Given the description of an element on the screen output the (x, y) to click on. 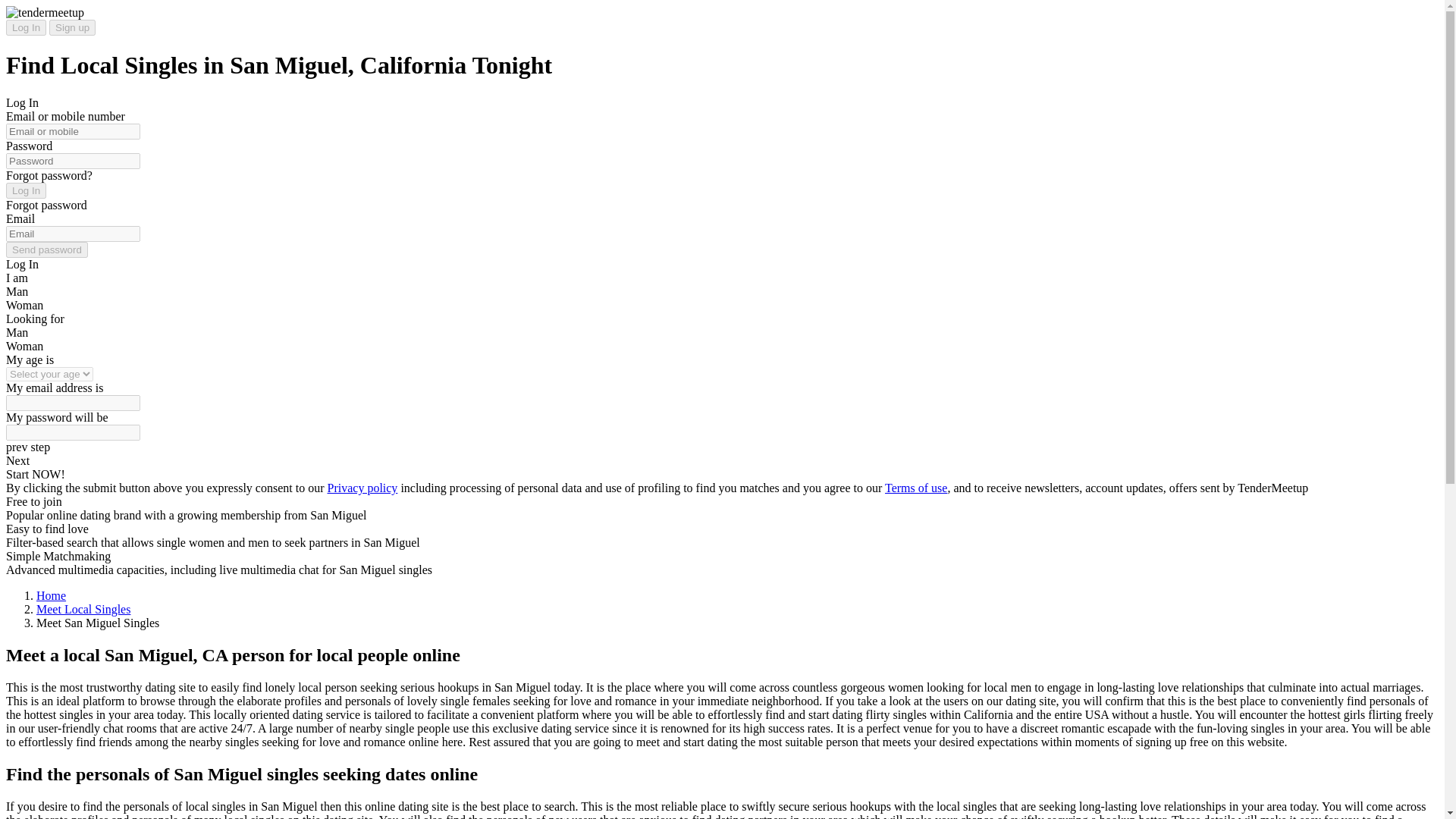
Terms of use (916, 487)
Log In (25, 190)
Sign up (72, 27)
Home (50, 594)
Send password (46, 249)
Privacy policy (362, 487)
Log In (25, 27)
Meet Local Singles (83, 608)
